Given the description of an element on the screen output the (x, y) to click on. 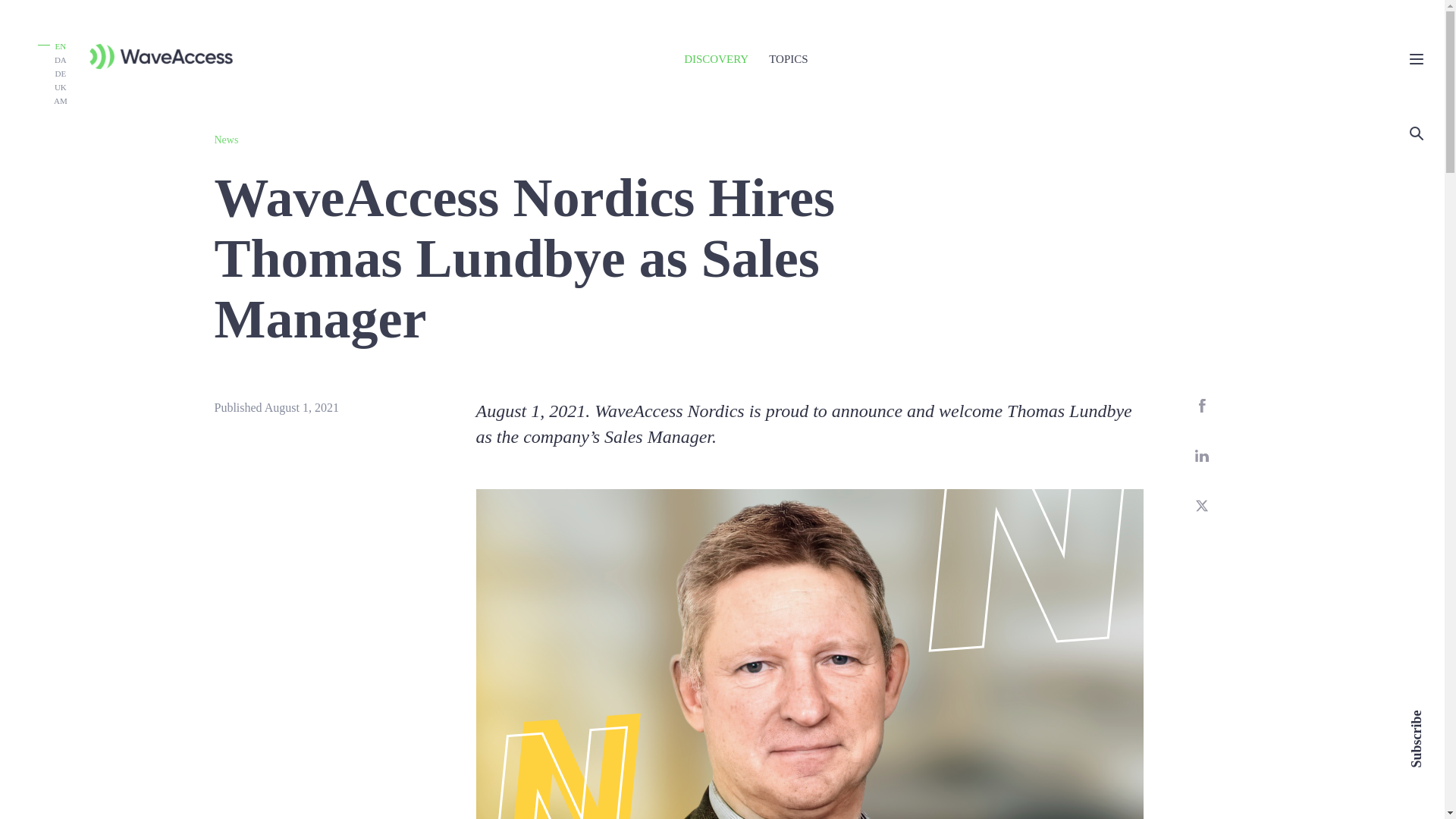
AM (59, 100)
TOPICS (788, 58)
UK (59, 87)
DA (59, 59)
DE (59, 73)
DISCOVERY (716, 58)
EN (51, 46)
